Given the description of an element on the screen output the (x, y) to click on. 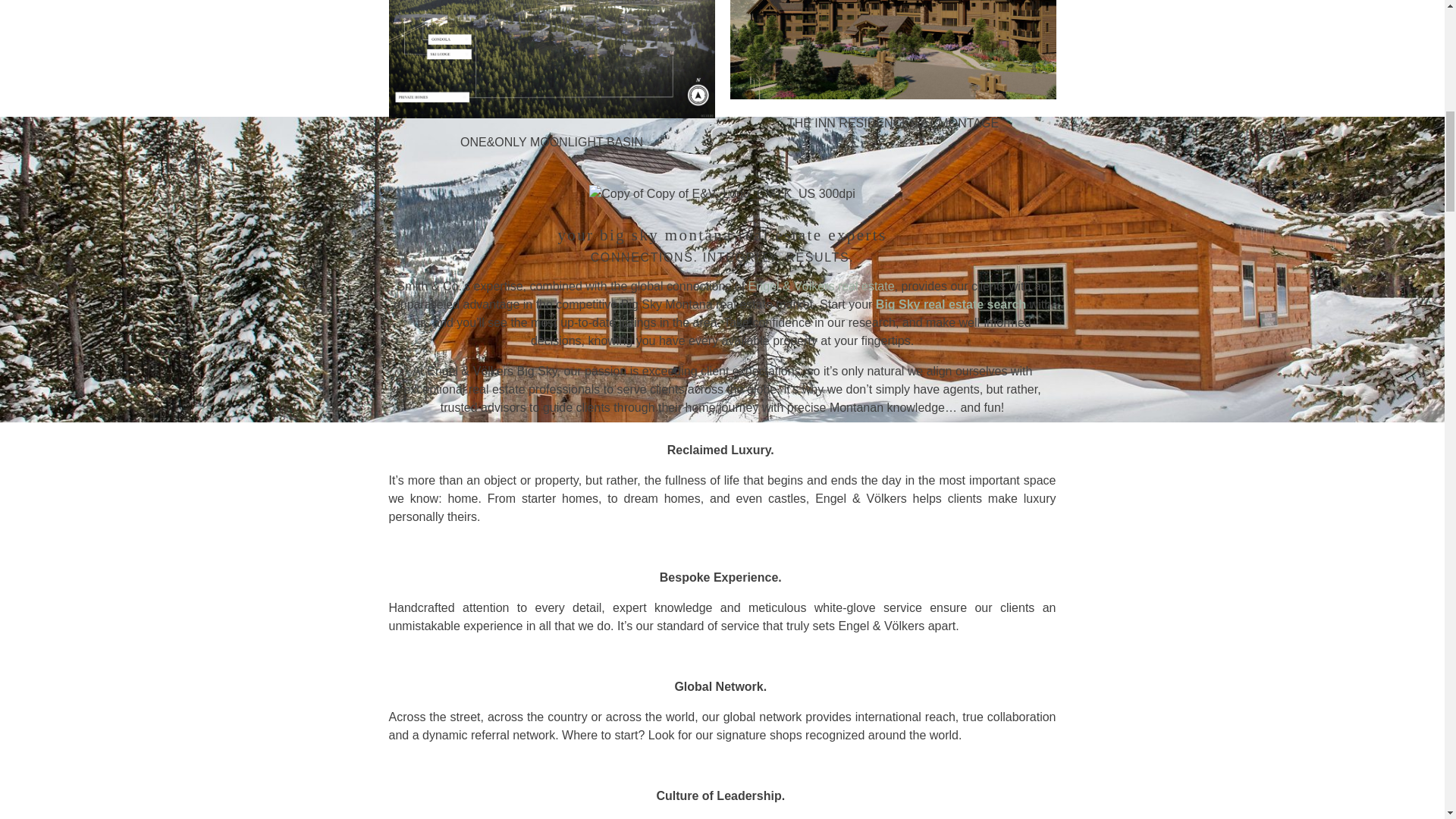
Big Sky real estate search (951, 304)
